Given the description of an element on the screen output the (x, y) to click on. 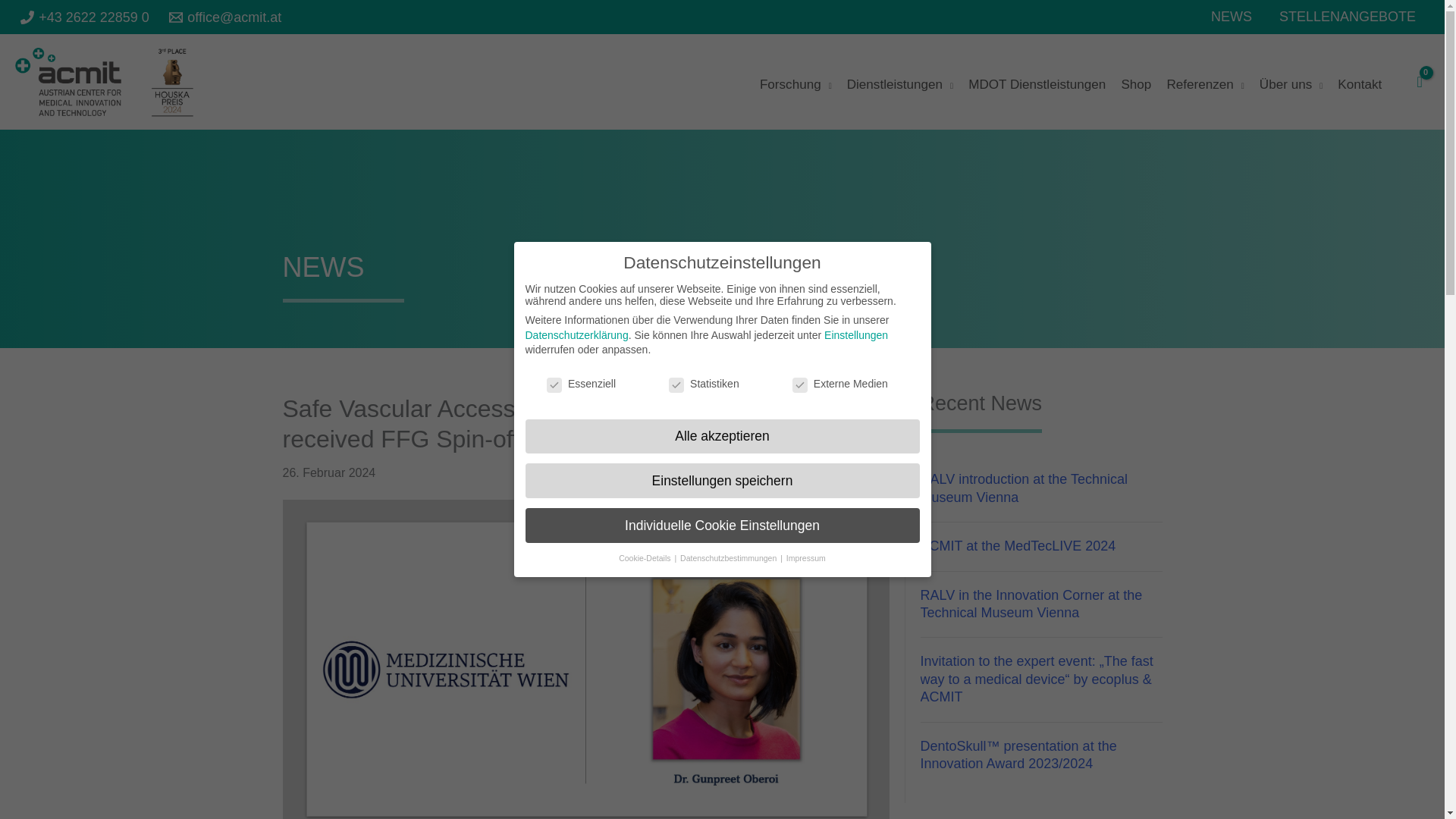
RALV in the Innovation Corner at the Technical Museum Vienna (1031, 603)
STELLENANGEBOTE (1347, 16)
RALV introduction at the Technical Museum Vienna (1024, 487)
ACMIT at the MedTecLIVE 2024 (1018, 545)
MDOT Dienstleistungen (1042, 82)
Forschung (800, 82)
NEWS (1230, 16)
Referenzen (1209, 82)
Dienstleistungen (905, 82)
